Given the description of an element on the screen output the (x, y) to click on. 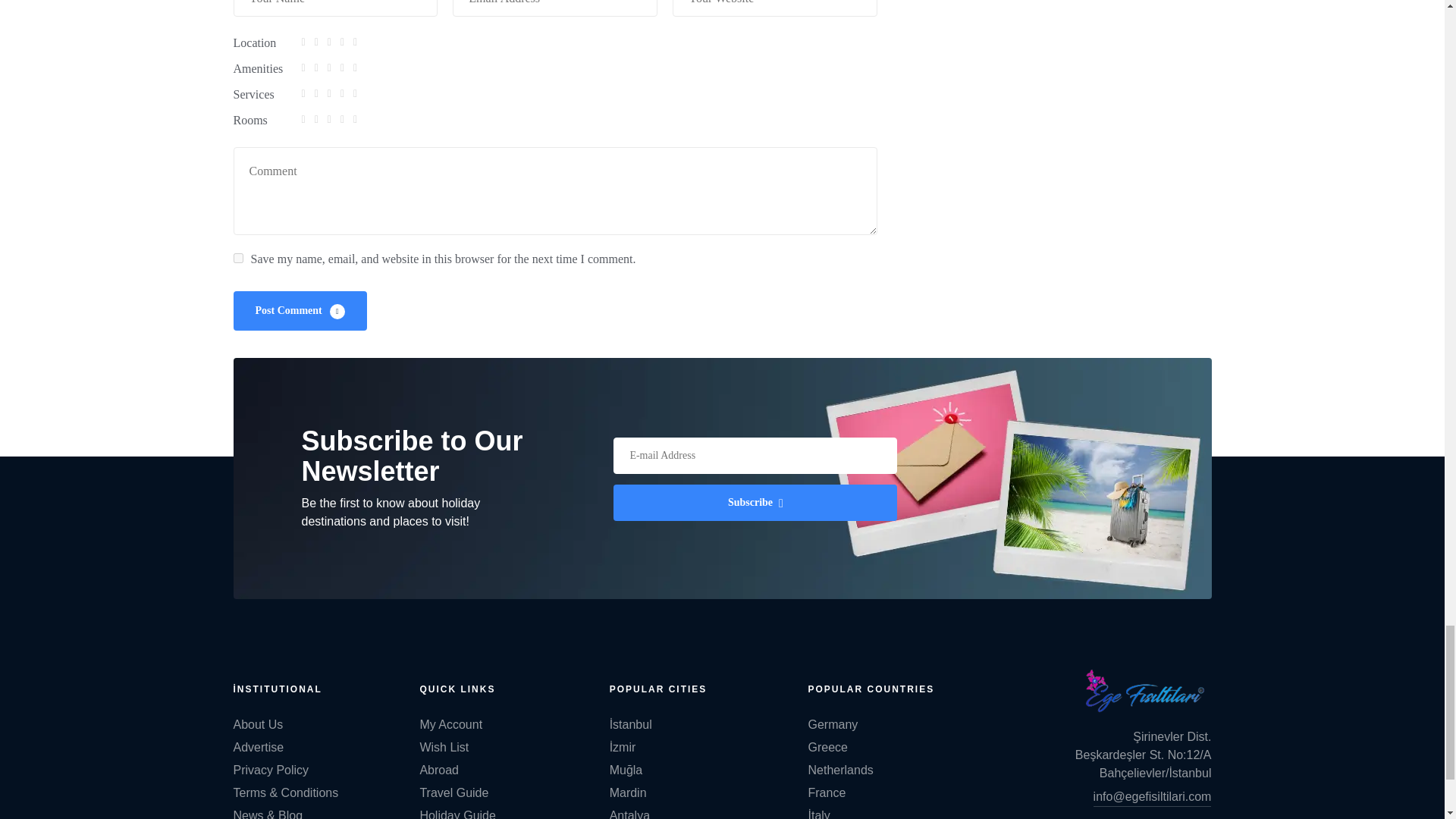
yes (237, 257)
